Given the description of an element on the screen output the (x, y) to click on. 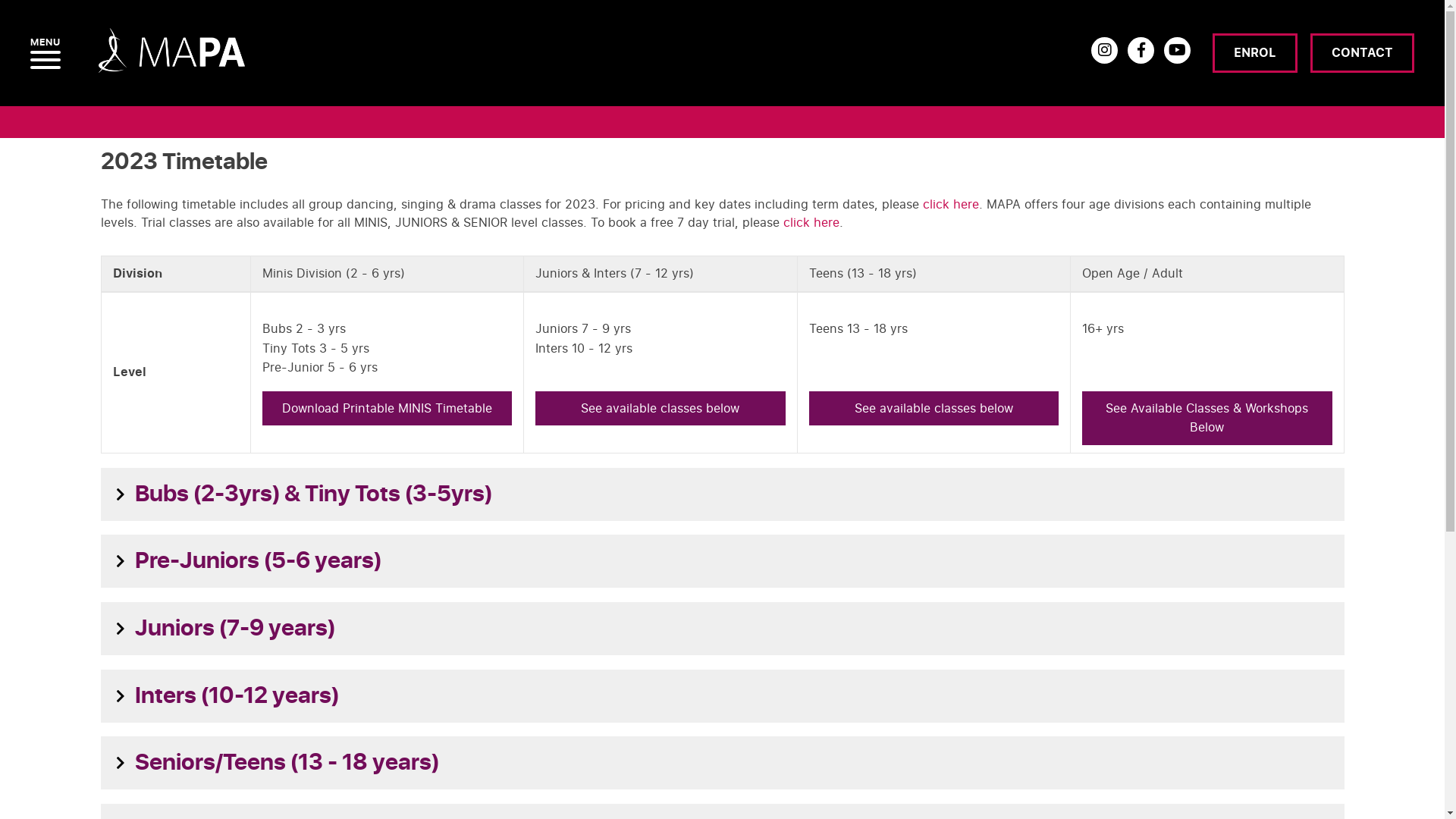
Subscribe to us on Youtube Element type: hover (1177, 50)
See available classes below Element type: text (659, 408)
See Available Classes & Workshops Below Element type: text (1206, 418)
click here Element type: text (810, 221)
Follow us on Instagram Element type: hover (1104, 50)
CONTACT Element type: text (1362, 52)
See available classes below Element type: text (933, 408)
Download Printable MINIS Timetable Element type: text (386, 408)
click here Element type: text (950, 203)
ENROL Element type: text (1254, 52)
Follow us on Facebook Element type: hover (1140, 50)
